Given the description of an element on the screen output the (x, y) to click on. 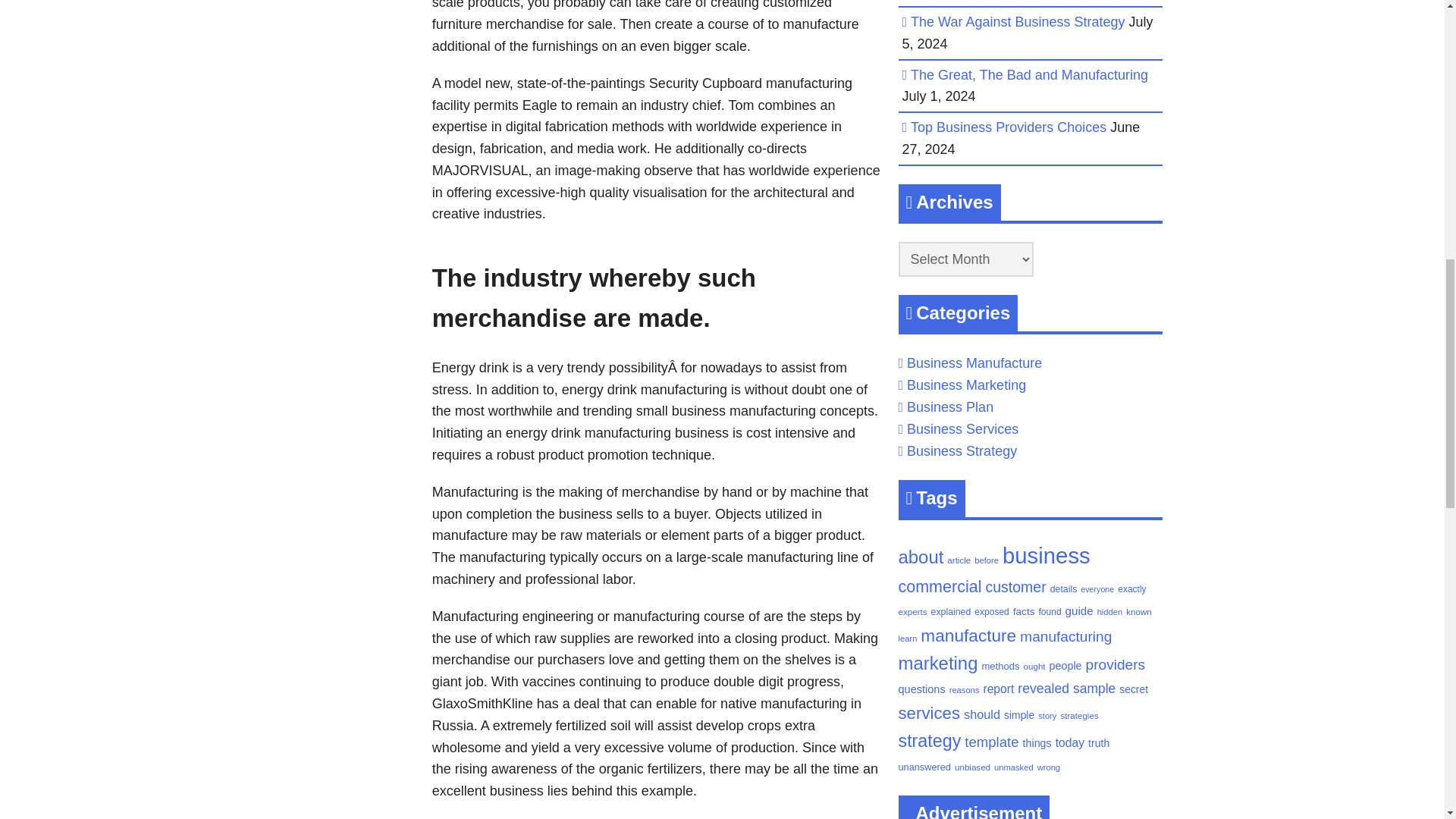
before (986, 560)
Business Plan (949, 406)
The Great, The Bad and Manufacturing (1029, 73)
article (959, 560)
commercial (939, 587)
Business Services (962, 428)
The War Against Business Strategy (1017, 21)
business (1046, 555)
Business Strategy (961, 450)
Business Marketing (966, 385)
